Given the description of an element on the screen output the (x, y) to click on. 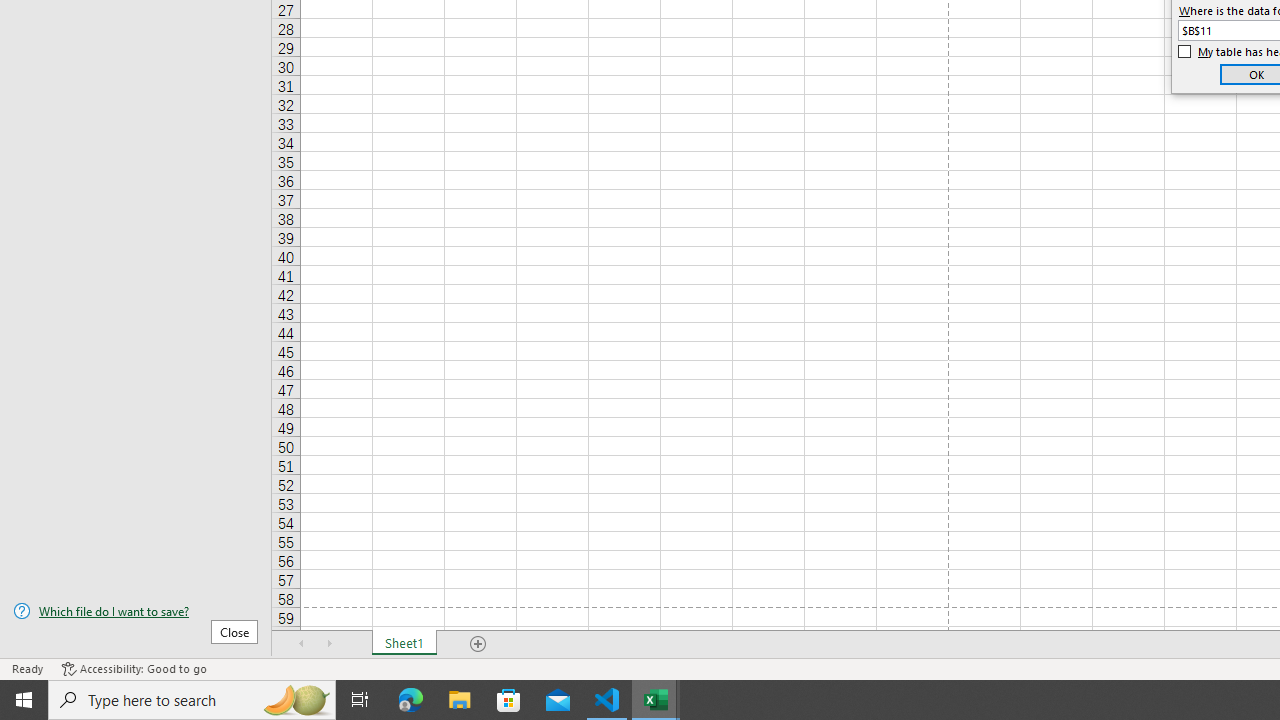
Which file do I want to save? (136, 611)
